Given the description of an element on the screen output the (x, y) to click on. 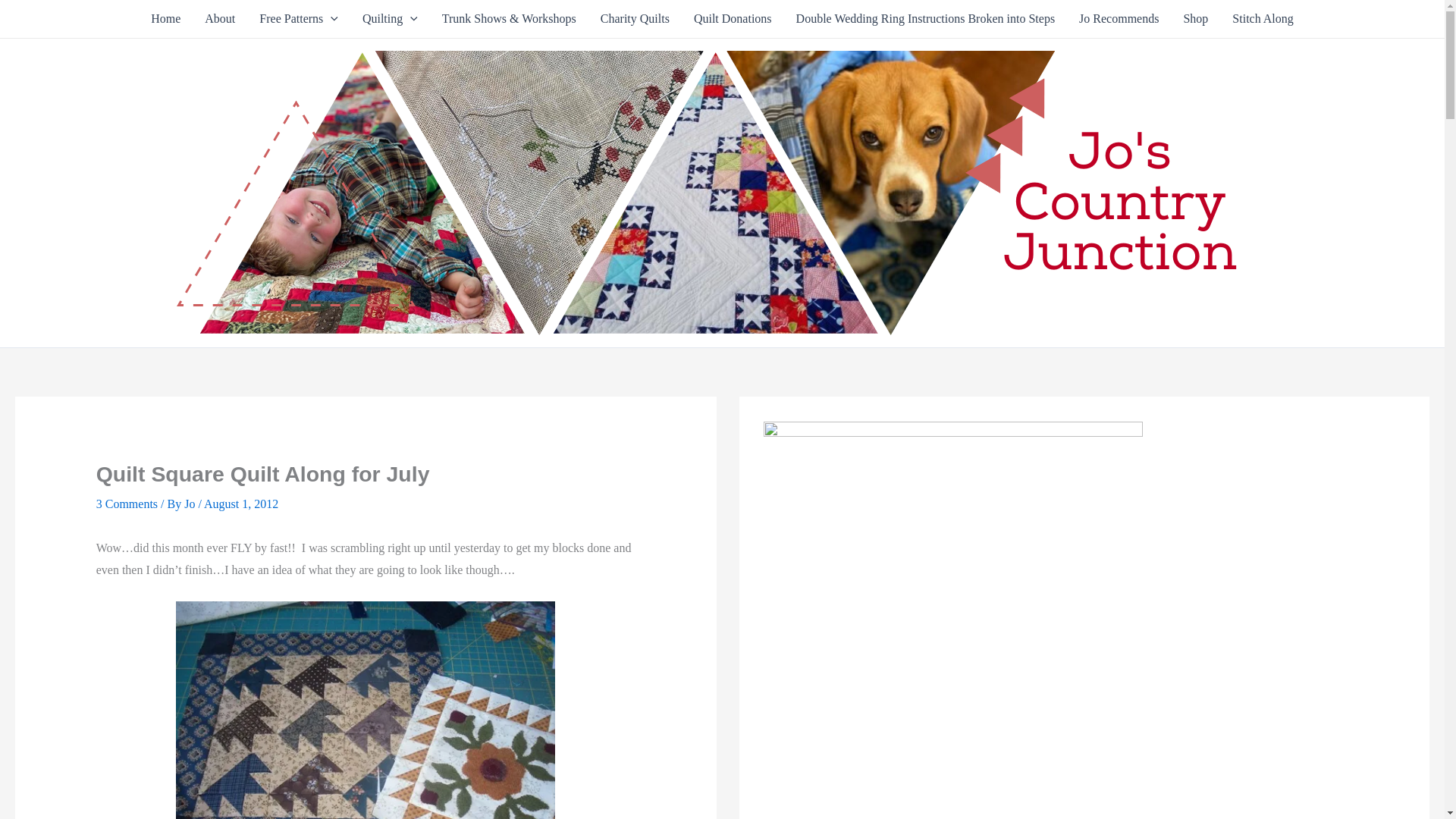
Charity Quilts (634, 18)
QSQA (365, 710)
About (219, 18)
Quilting (389, 18)
Quilts of 2012 (389, 18)
Home (165, 18)
View all posts by Jo (191, 503)
Free Patterns (298, 18)
Quilt Donations (732, 18)
